Given the description of an element on the screen output the (x, y) to click on. 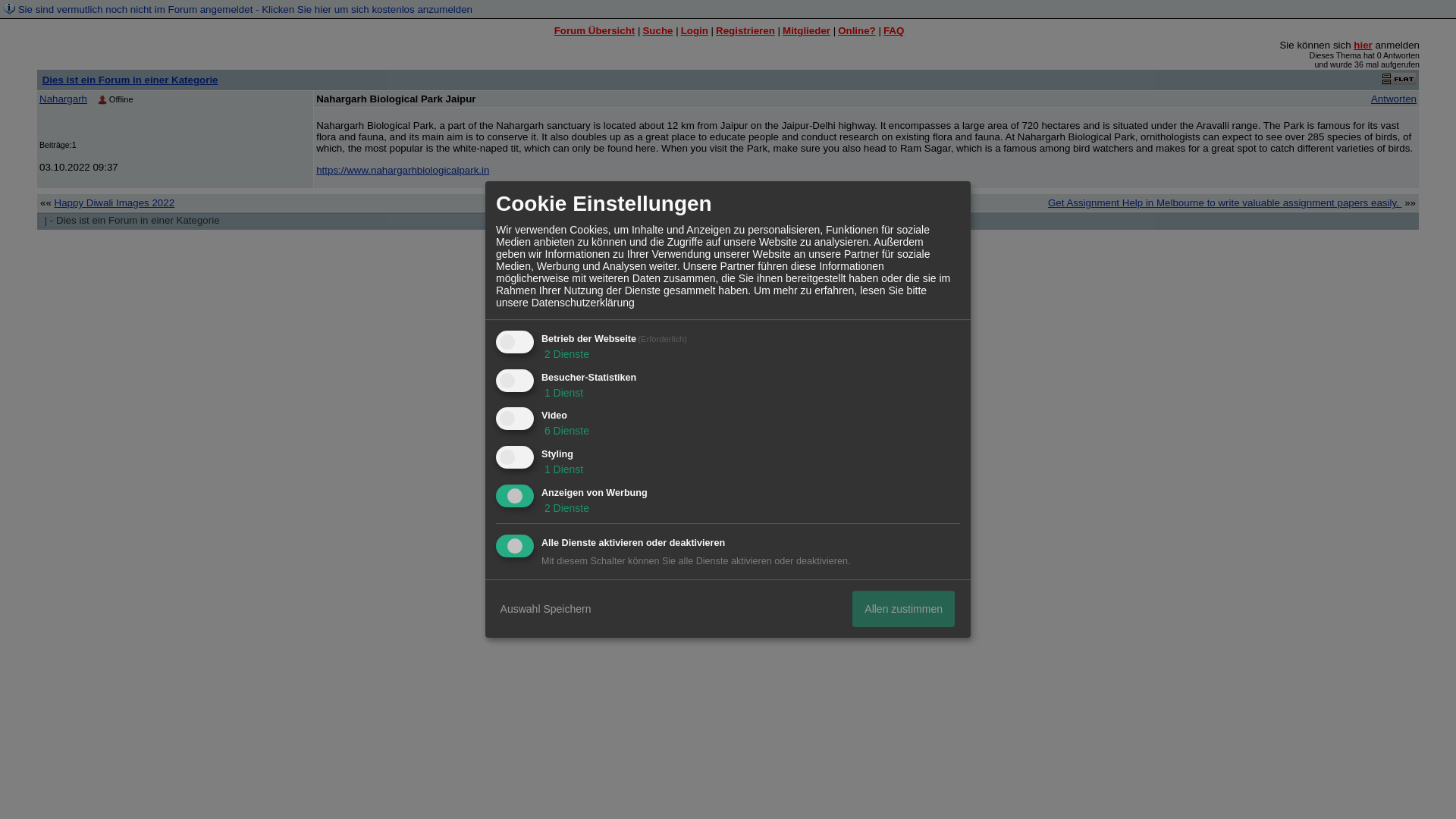
Login (694, 30)
FAQ (893, 30)
Online? (857, 30)
Dies ist ein Forum in einer Kategorie (130, 79)
Mitglieder (806, 30)
Nahargarh (63, 98)
Sprung (541, 221)
Suche (657, 30)
Antworten (1393, 98)
